Given the description of an element on the screen output the (x, y) to click on. 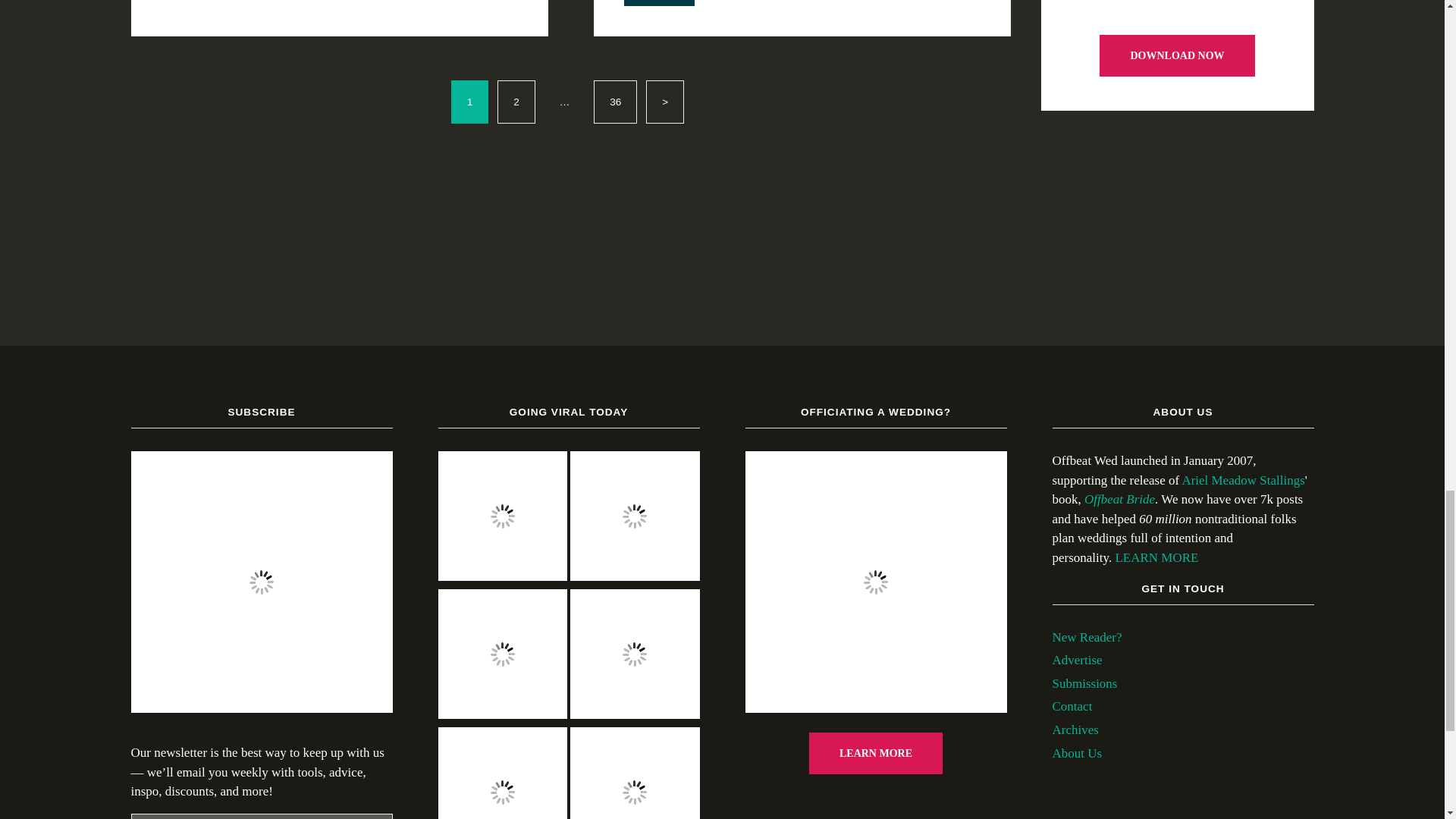
7 unique wedding welcome bag ideas (502, 773)
